Given the description of an element on the screen output the (x, y) to click on. 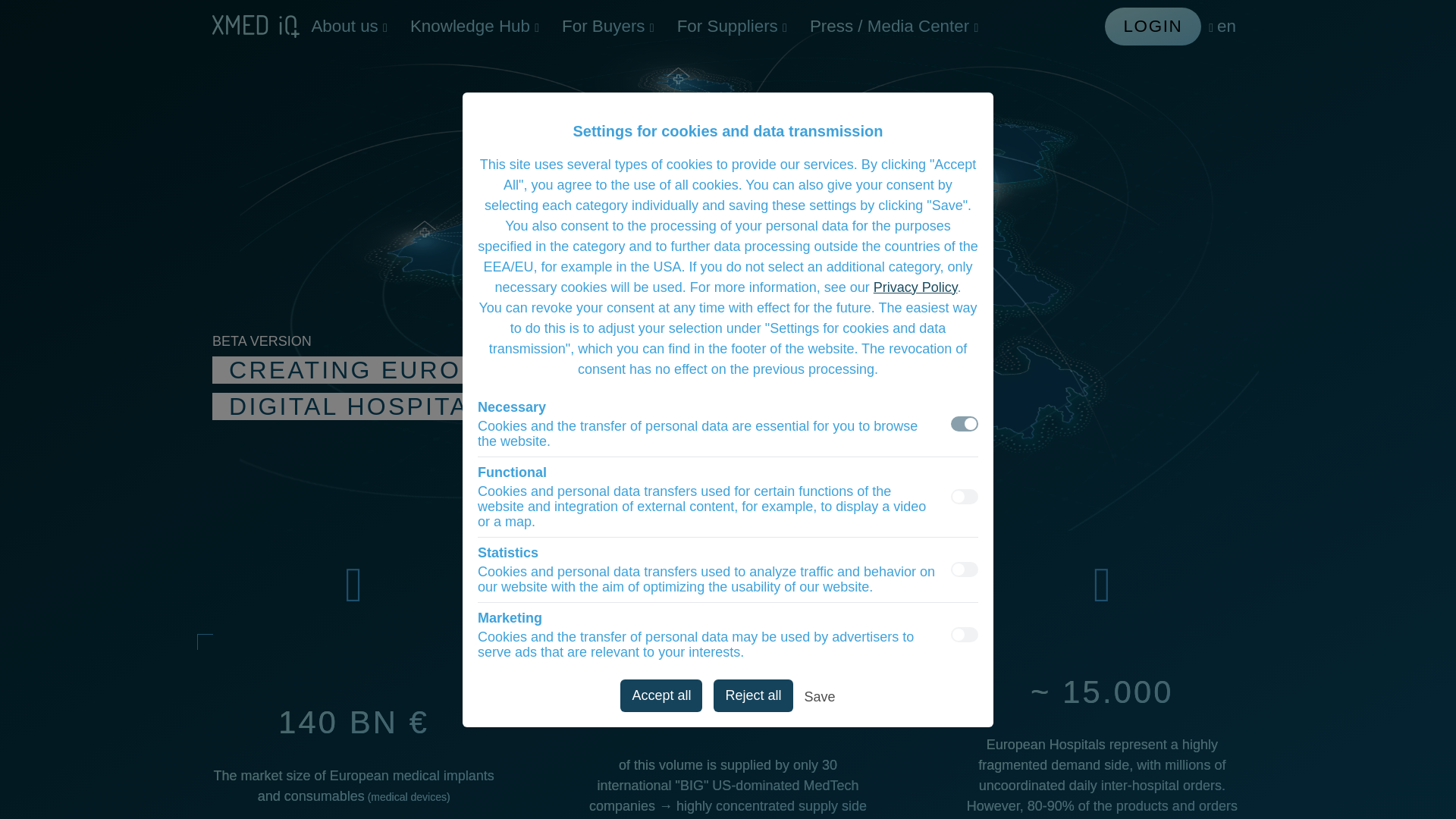
on (964, 496)
For Suppliers (731, 26)
on (964, 423)
on (964, 634)
Privacy Policy (915, 286)
Save (820, 699)
Accept all (660, 695)
LOGIN (1153, 26)
About us (348, 26)
Reject all (752, 695)
